Given the description of an element on the screen output the (x, y) to click on. 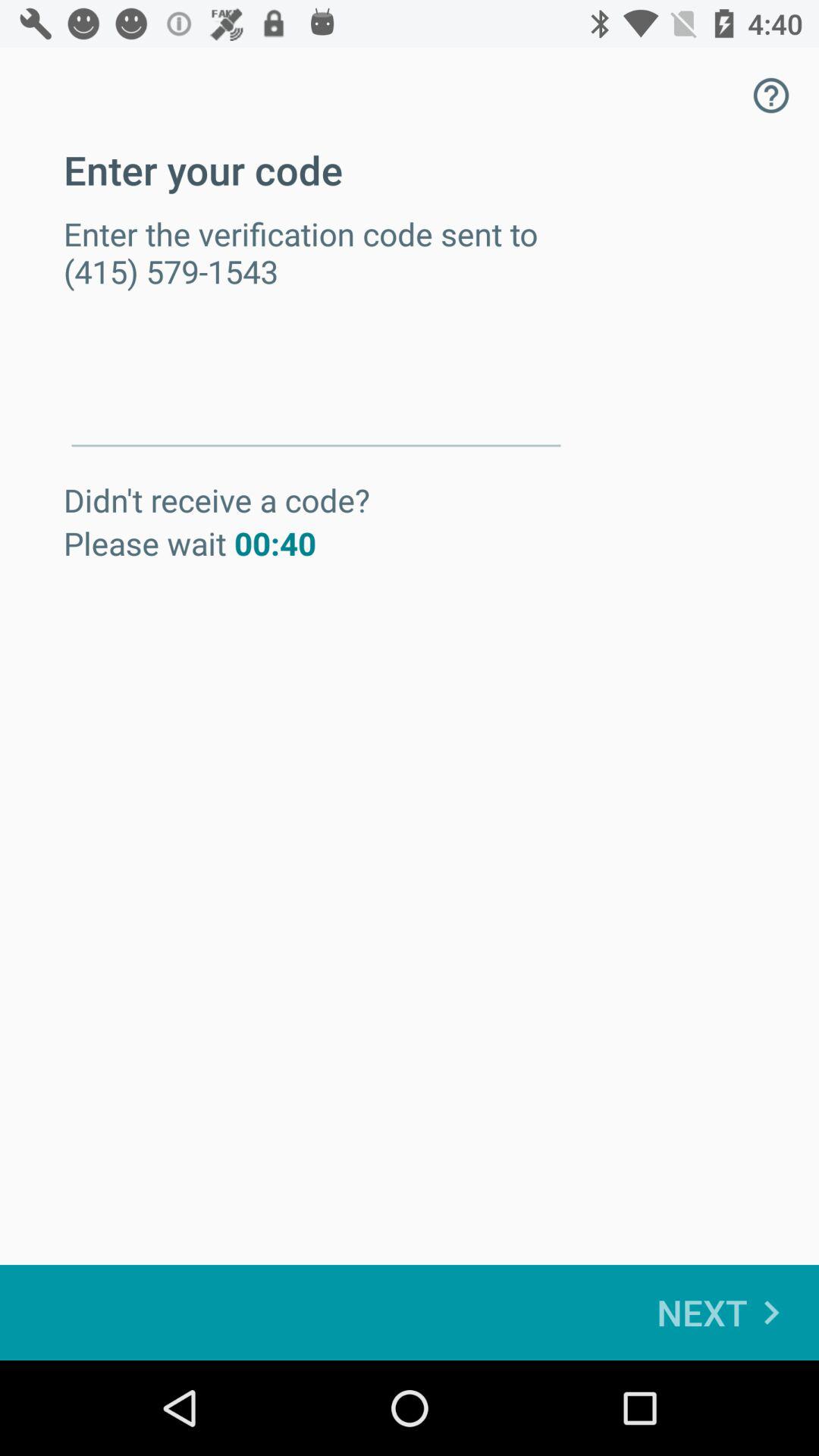
click the item above didn t receive item (315, 393)
